Given the description of an element on the screen output the (x, y) to click on. 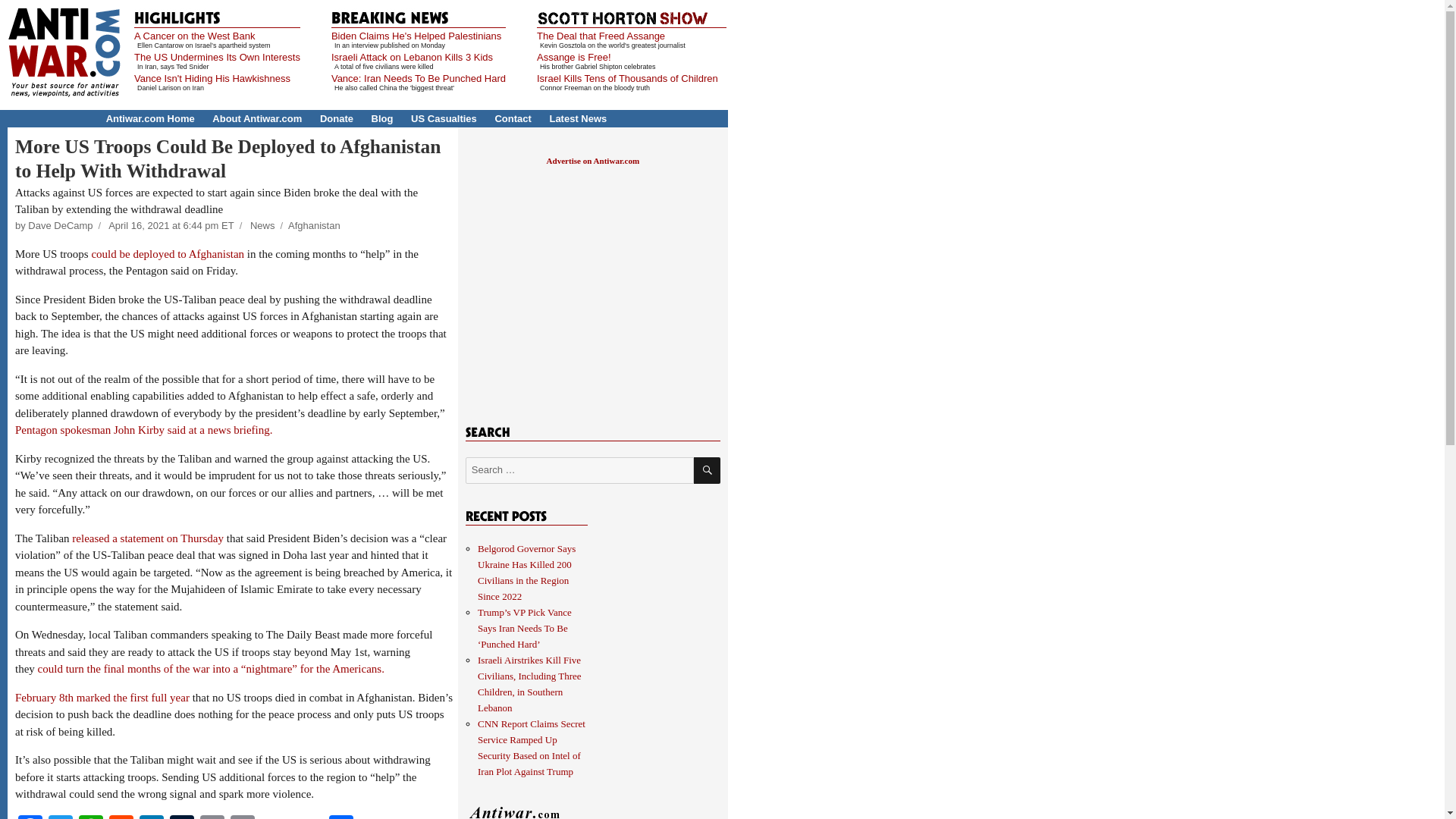
LinkedIn (151, 816)
Reddit (121, 816)
Vance: Iran Needs To Be Punched Hard (418, 78)
released a statement on Thursday (147, 538)
could be deployed to Afghanistan (167, 254)
by Dave DeCamp (53, 225)
Print (242, 816)
WhatsApp (90, 816)
Afghanistan (314, 225)
News (262, 225)
LinkedIn (151, 816)
The Deal that Freed Assange (601, 35)
Twitter (60, 816)
Tumblr (181, 816)
Blog (382, 118)
